Given the description of an element on the screen output the (x, y) to click on. 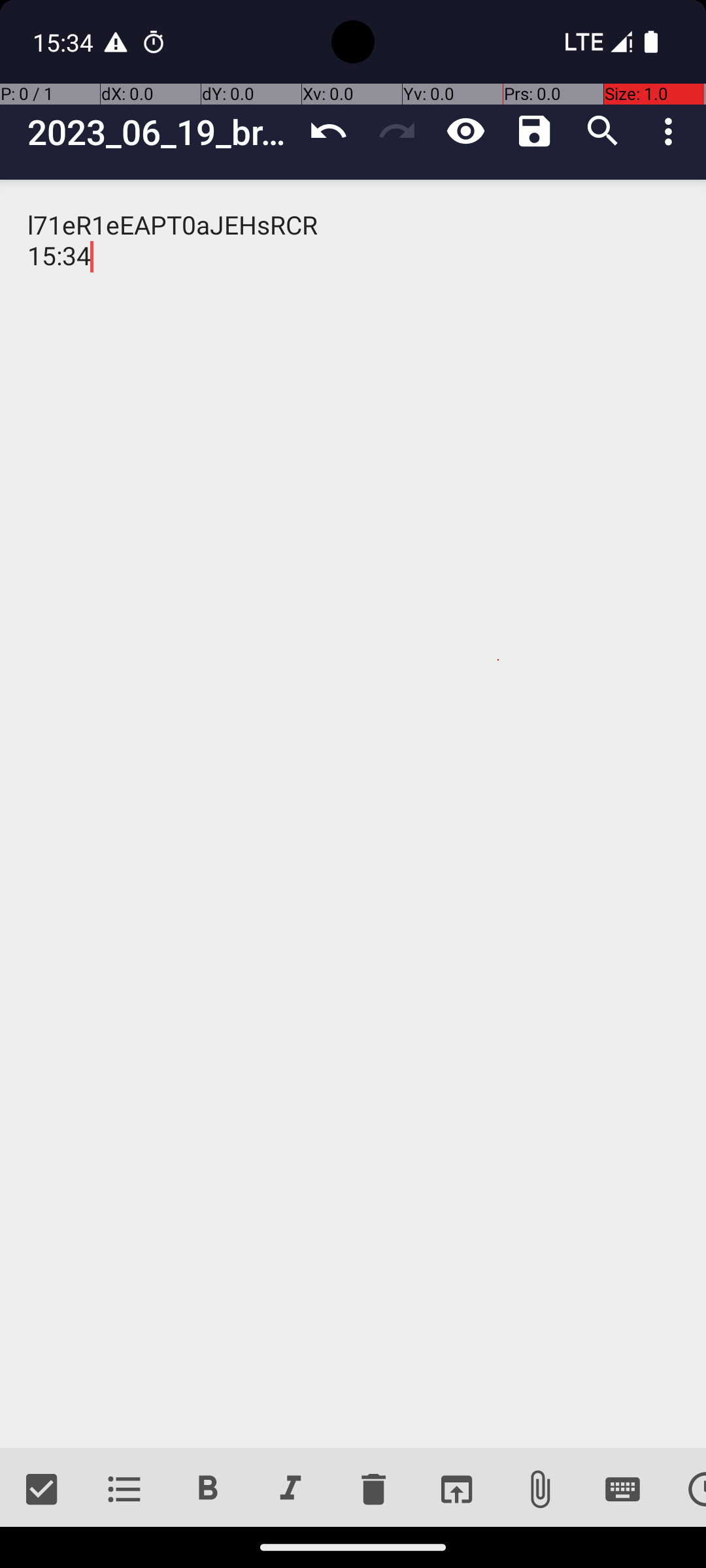
2023_06_19_brave_bear_2ipi Element type: android.widget.TextView (160, 131)
Undo Element type: android.widget.TextView (328, 131)
Redo Element type: android.widget.TextView (396, 131)
View mode Element type: android.widget.TextView (465, 131)
l71eR1eEAPT0aJEHsRCR
15:34 Element type: android.widget.EditText (353, 813)
Check list Element type: android.widget.ImageView (41, 1488)
Unordered list Element type: android.widget.ImageView (124, 1488)
Bold Element type: android.widget.ImageView (207, 1488)
Italic Element type: android.widget.ImageView (290, 1488)
Delete lines Element type: android.widget.ImageView (373, 1488)
Open link Element type: android.widget.ImageView (456, 1488)
Attach Element type: android.widget.ImageView (539, 1488)
Special Key Element type: android.widget.ImageView (622, 1488)
Date and time Element type: android.widget.ImageView (685, 1488)
